Given the description of an element on the screen output the (x, y) to click on. 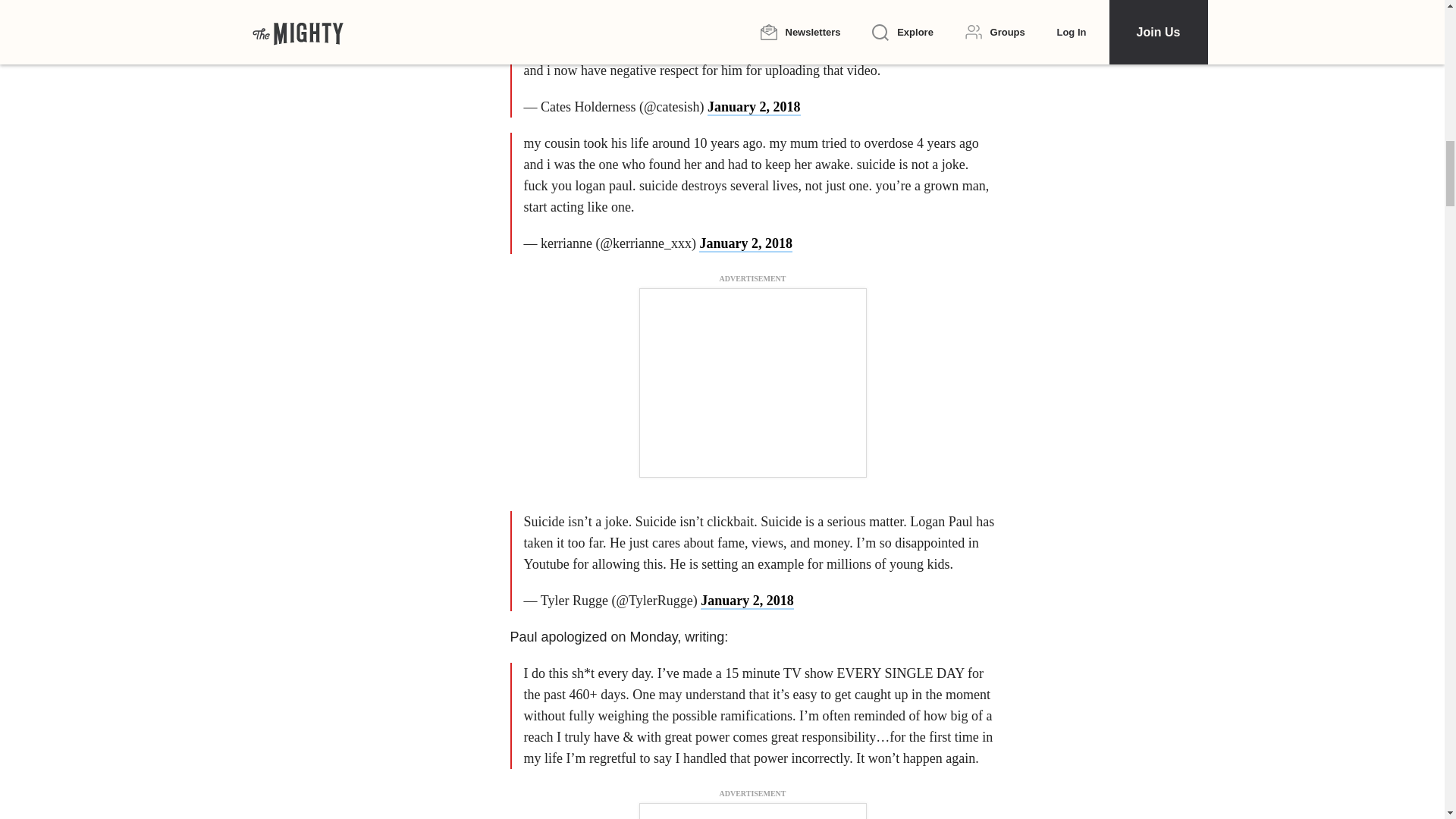
January 2, 2018 (745, 243)
January 2, 2018 (746, 600)
January 2, 2018 (753, 107)
